Given the description of an element on the screen output the (x, y) to click on. 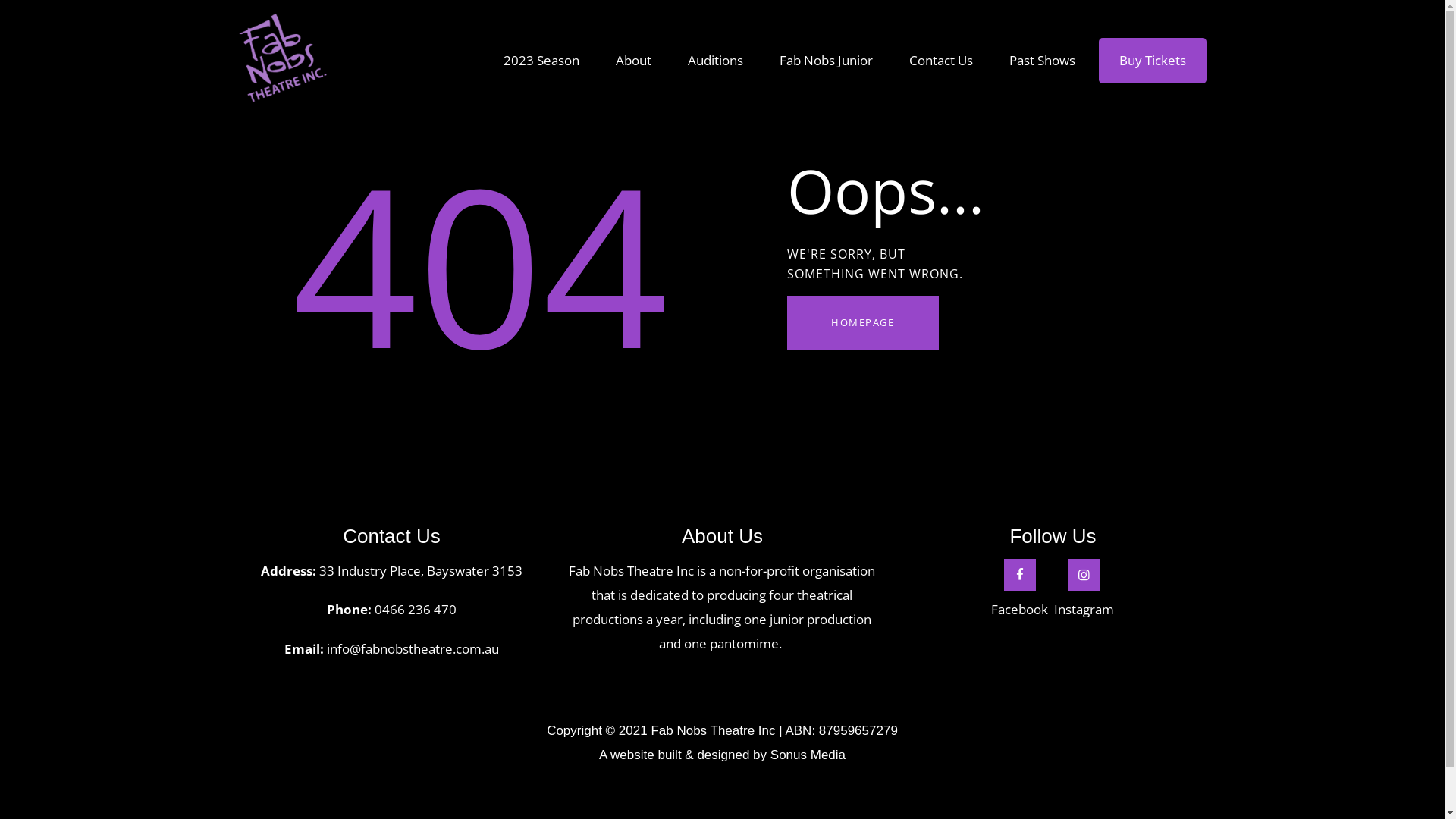
Sonus Media Element type: text (807, 754)
HOMEPAGE Element type: text (862, 322)
Past Shows Element type: text (1042, 60)
Facebook Element type: text (1019, 589)
2023 Season Element type: text (541, 60)
Fab Nobs Junior Element type: text (825, 60)
info@fabnobstheatre.com.au Element type: text (412, 648)
33 Industry Place, Bayswater 3153 Element type: text (420, 570)
Instagram Element type: text (1083, 589)
Auditions Element type: text (715, 60)
About Element type: text (633, 60)
Buy Tickets Element type: text (1152, 60)
Contact Us Element type: text (940, 60)
